Given the description of an element on the screen output the (x, y) to click on. 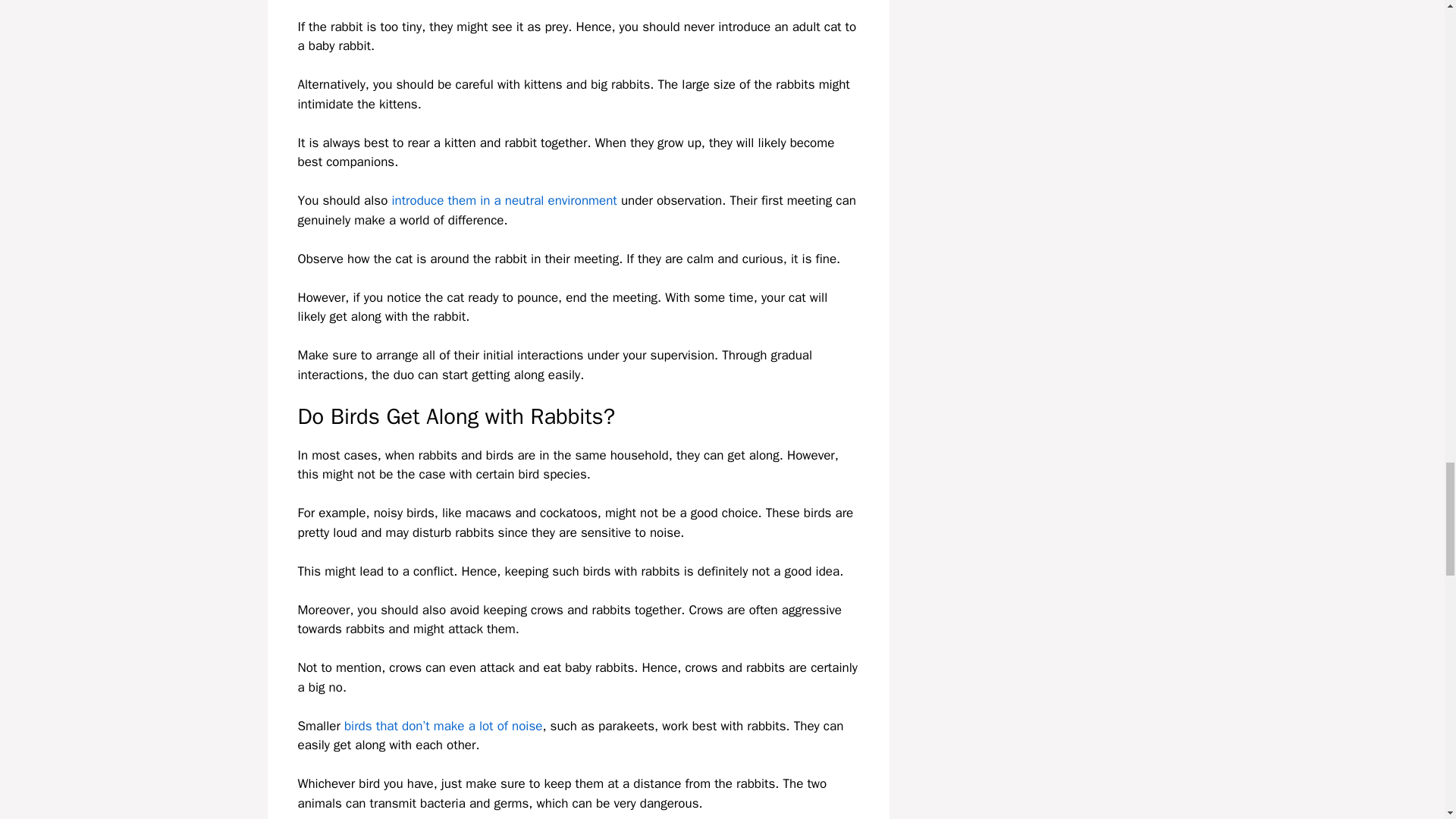
introduce them in a neutral environment (503, 200)
